Given the description of an element on the screen output the (x, y) to click on. 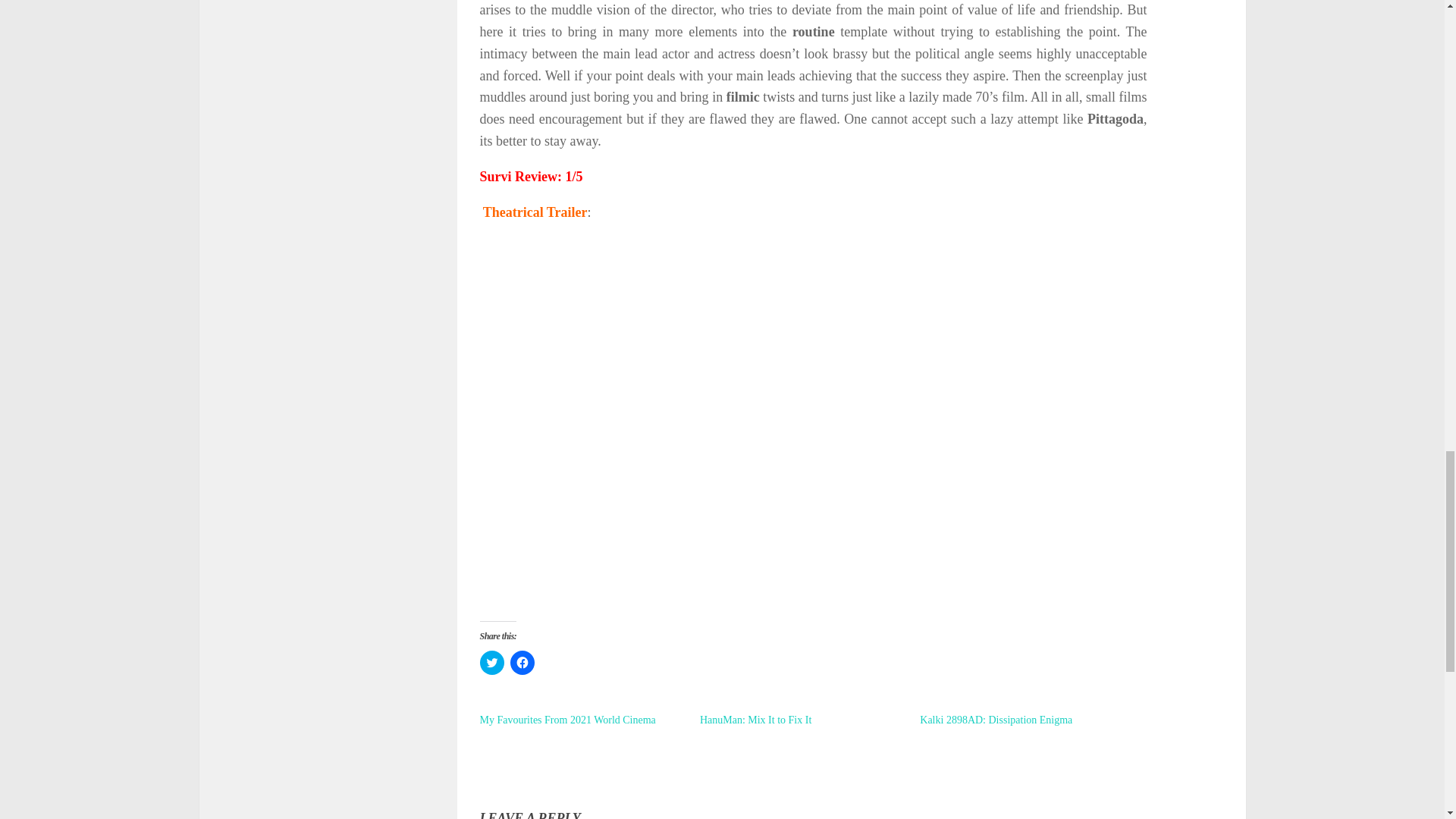
Click to share on Facebook (521, 662)
HanuMan: Mix It to Fix It (755, 719)
Kalki 2898AD: Dissipation Enigma (995, 719)
My Favourites From 2021 World Cinema (567, 719)
HanuMan: Mix It to Fix It (755, 719)
Click to share on Twitter (491, 662)
Kalki 2898AD: Dissipation Enigma (995, 719)
My Favourites From 2021 World Cinema (567, 719)
